Given the description of an element on the screen output the (x, y) to click on. 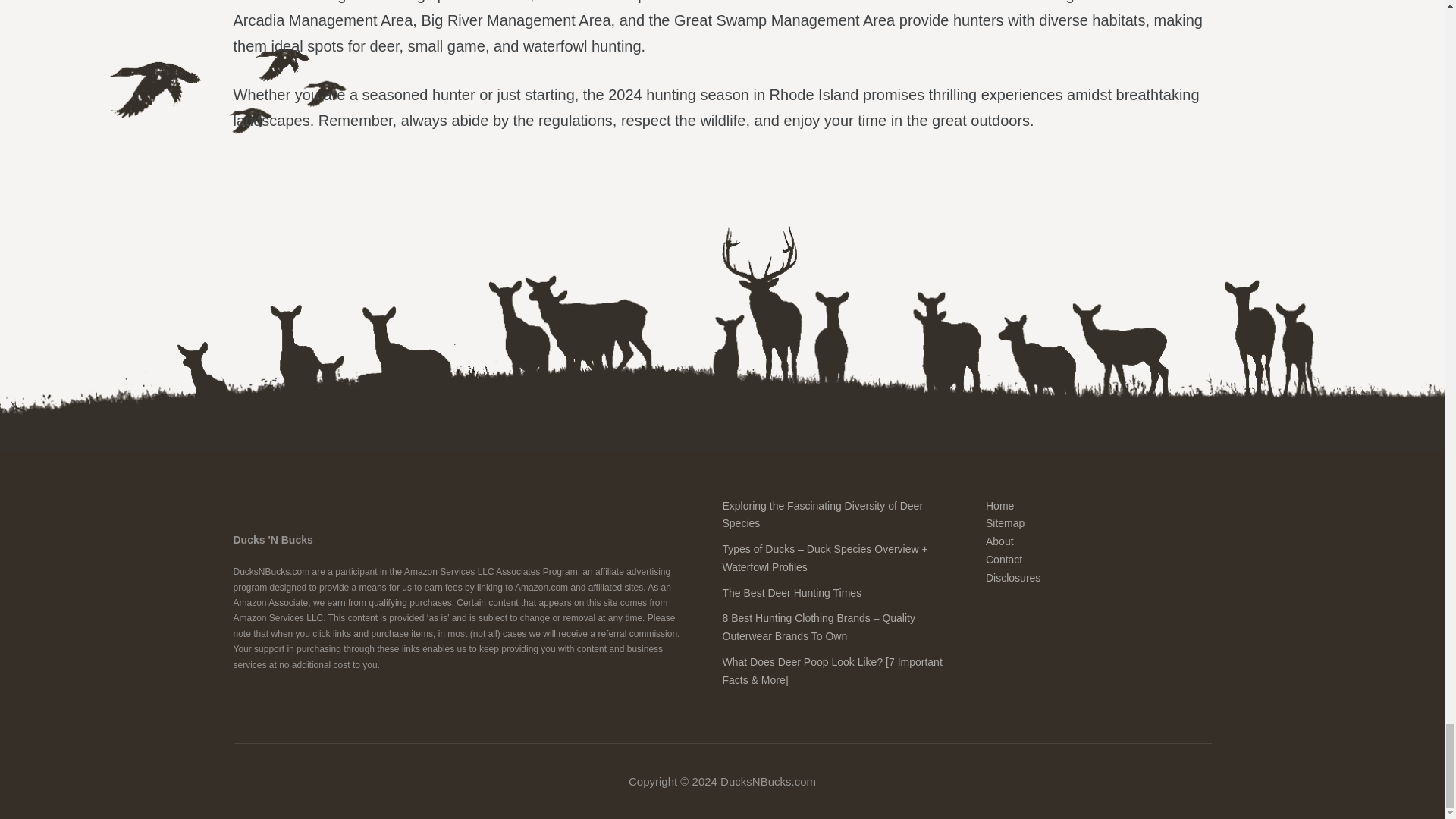
Exploring the Fascinating Diversity of Deer Species (822, 513)
Contact (1003, 559)
Sitemap (1005, 522)
Home (999, 504)
About (999, 541)
The Best Deer Hunting Times (791, 592)
Disclosures (1013, 577)
